Given the description of an element on the screen output the (x, y) to click on. 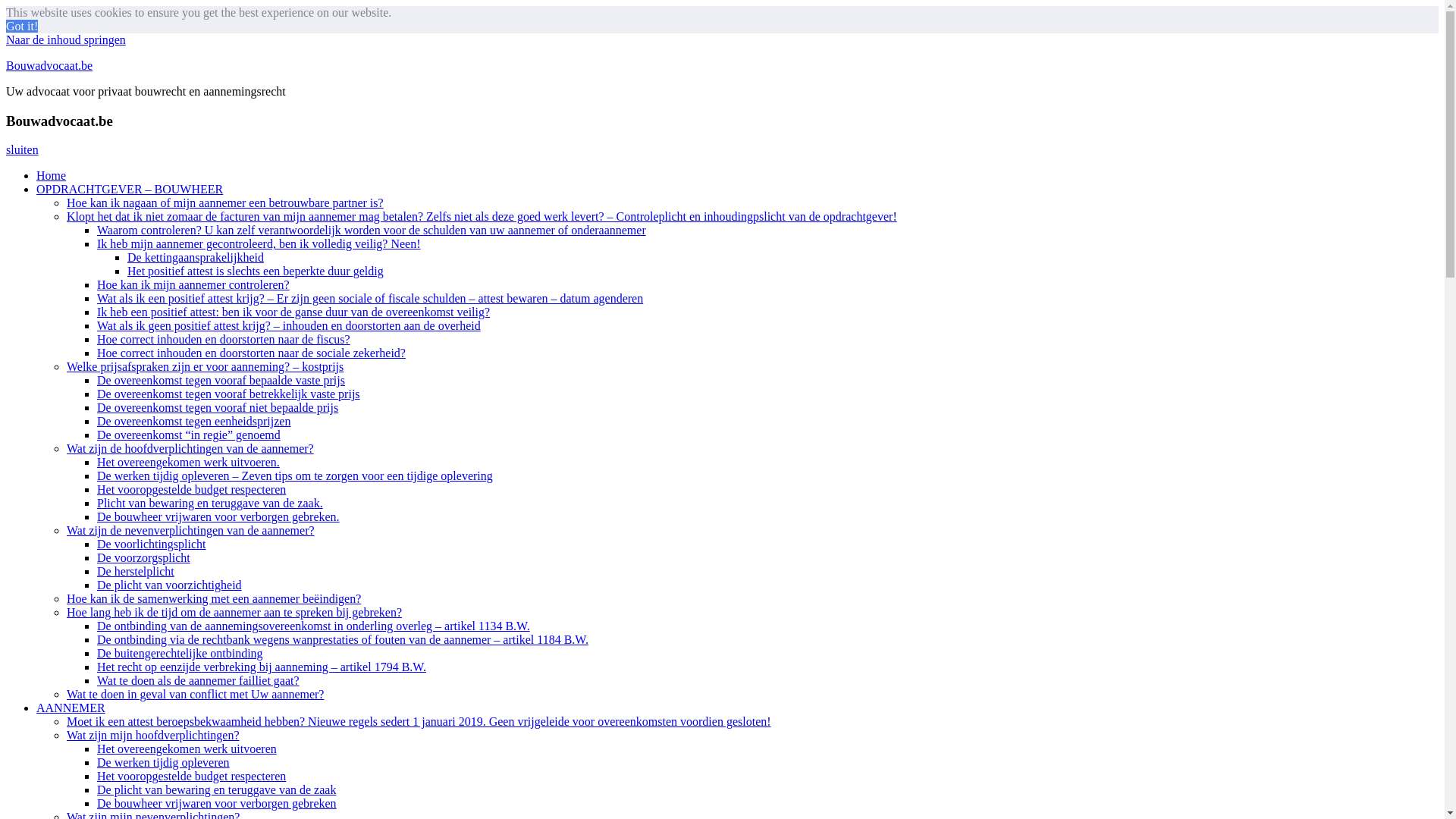
Wat zijn mijn hoofdverplichtingen? Element type: text (152, 734)
Het vooropgestelde budget respecteren Element type: text (191, 489)
Het overeengekomen werk uitvoeren Element type: text (186, 748)
De plicht van voorzichtigheid Element type: text (169, 584)
Wat zijn de nevenverplichtingen van de aannemer? Element type: text (190, 530)
De buitengerechtelijke ontbinding Element type: text (180, 652)
Het positief attest is slechts een beperkte duur geldig Element type: text (255, 270)
De overeenkomst tegen vooraf bepaalde vaste prijs Element type: text (221, 379)
De overeenkomst tegen vooraf niet bepaalde prijs Element type: text (217, 407)
sluiten Element type: text (22, 149)
Hoe kan ik mijn aannemer controleren? Element type: text (193, 284)
De kettingaansprakelijkheid Element type: text (195, 257)
Het vooropgestelde budget respecteren Element type: text (191, 775)
AANNEMER Element type: text (70, 707)
Naar de inhoud springen Element type: text (65, 39)
De plicht van bewaring en teruggave van de zaak Element type: text (216, 789)
De herstelplicht Element type: text (135, 570)
Het overeengekomen werk uitvoeren. Element type: text (188, 461)
De bouwheer vrijwaren voor verborgen gebreken. Element type: text (218, 516)
De bouwheer vrijwaren voor verborgen gebreken Element type: text (216, 803)
Wat zijn de hoofdverplichtingen van de aannemer? Element type: text (189, 448)
Wat te doen in geval van conflict met Uw aannemer? Element type: text (194, 693)
De overeenkomst tegen vooraf betrekkelijk vaste prijs Element type: text (228, 393)
Bouwadvocaat.be Element type: text (49, 65)
Plicht van bewaring en teruggave van de zaak. Element type: text (210, 502)
De werken tijdig opleveren Element type: text (163, 762)
Hoe correct inhouden en doorstorten naar de fiscus? Element type: text (223, 338)
Wat te doen als de aannemer failliet gaat? Element type: text (198, 680)
De overeenkomst tegen eenheidsprijzen Element type: text (193, 420)
De voorlichtingsplicht Element type: text (151, 543)
Got it! Element type: text (21, 25)
De voorzorgsplicht Element type: text (143, 557)
Home Element type: text (50, 175)
